Given the description of an element on the screen output the (x, y) to click on. 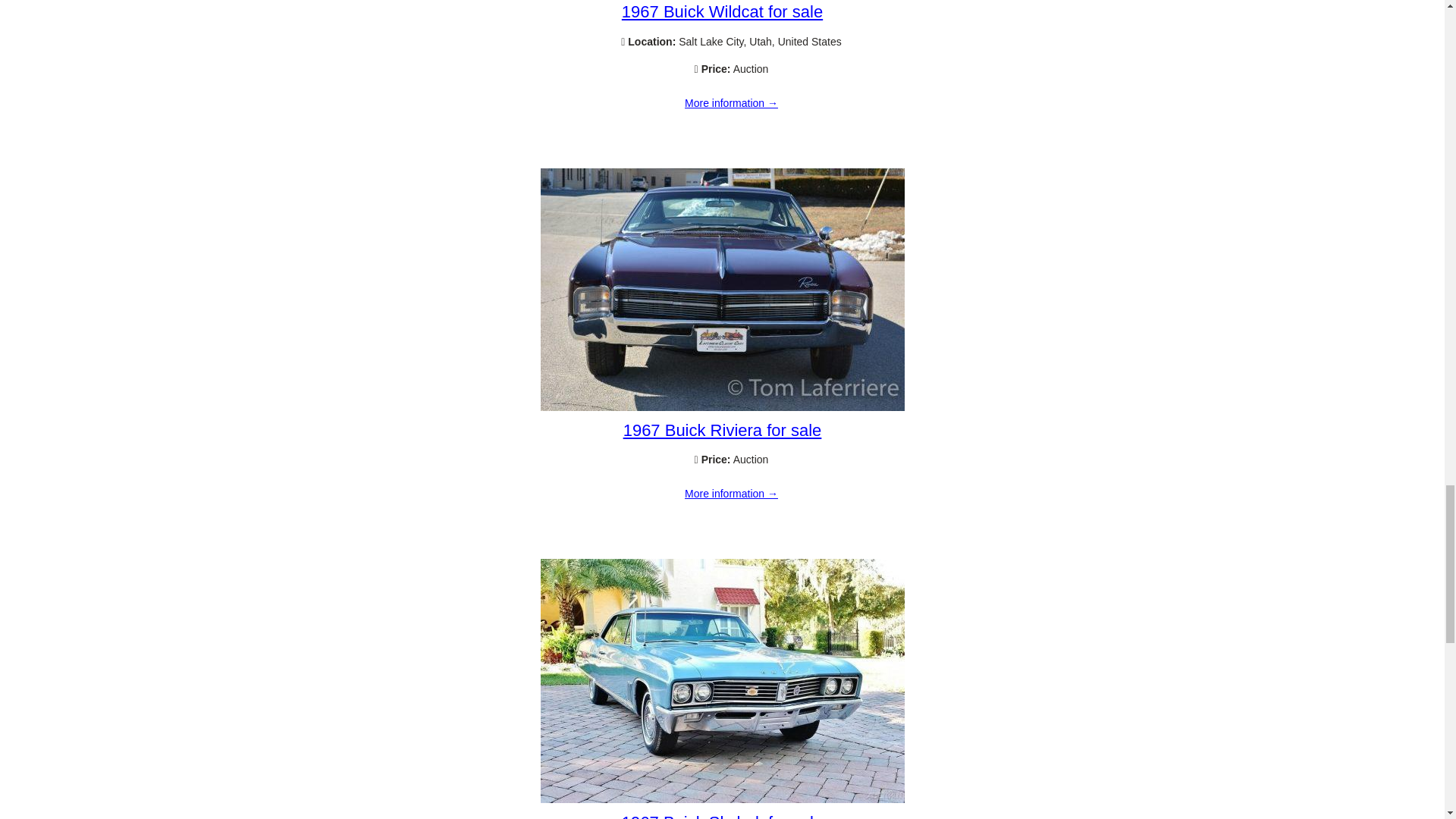
1967 Buick Riviera for sale (722, 429)
1967 Buick Wildcat for sale (731, 103)
1967 Buick Wildcat for sale (721, 11)
1967 Buick Riviera for sale (731, 493)
1967 Buick Skylark for sale (722, 799)
1967 Buick Skylark for sale (721, 816)
1967 Buick Riviera for sale (722, 407)
